Given the description of an element on the screen output the (x, y) to click on. 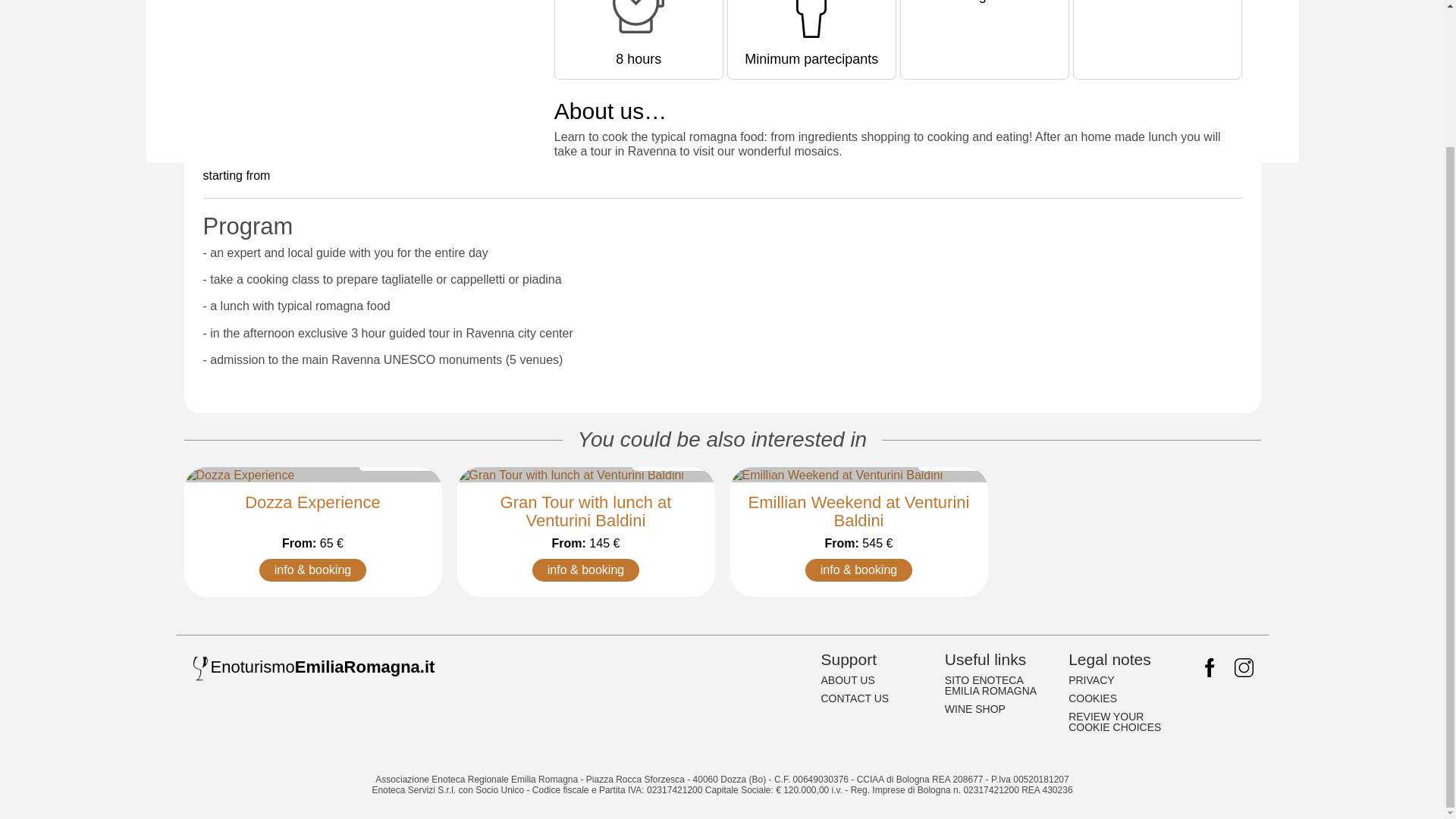
WINE SHOP (998, 709)
EnoturismoEmiliaRomagna.it (334, 667)
PRIVACY (1122, 679)
CONTACT US (874, 698)
PRIVATE (948, 461)
ROMANTIC (669, 461)
ROMANTIC (396, 461)
REVIEW YOUR COOKIE CHOICES (1122, 721)
ABOUT US (874, 679)
SITO ENOTECA EMILIA ROMAGNA (998, 685)
